Given the description of an element on the screen output the (x, y) to click on. 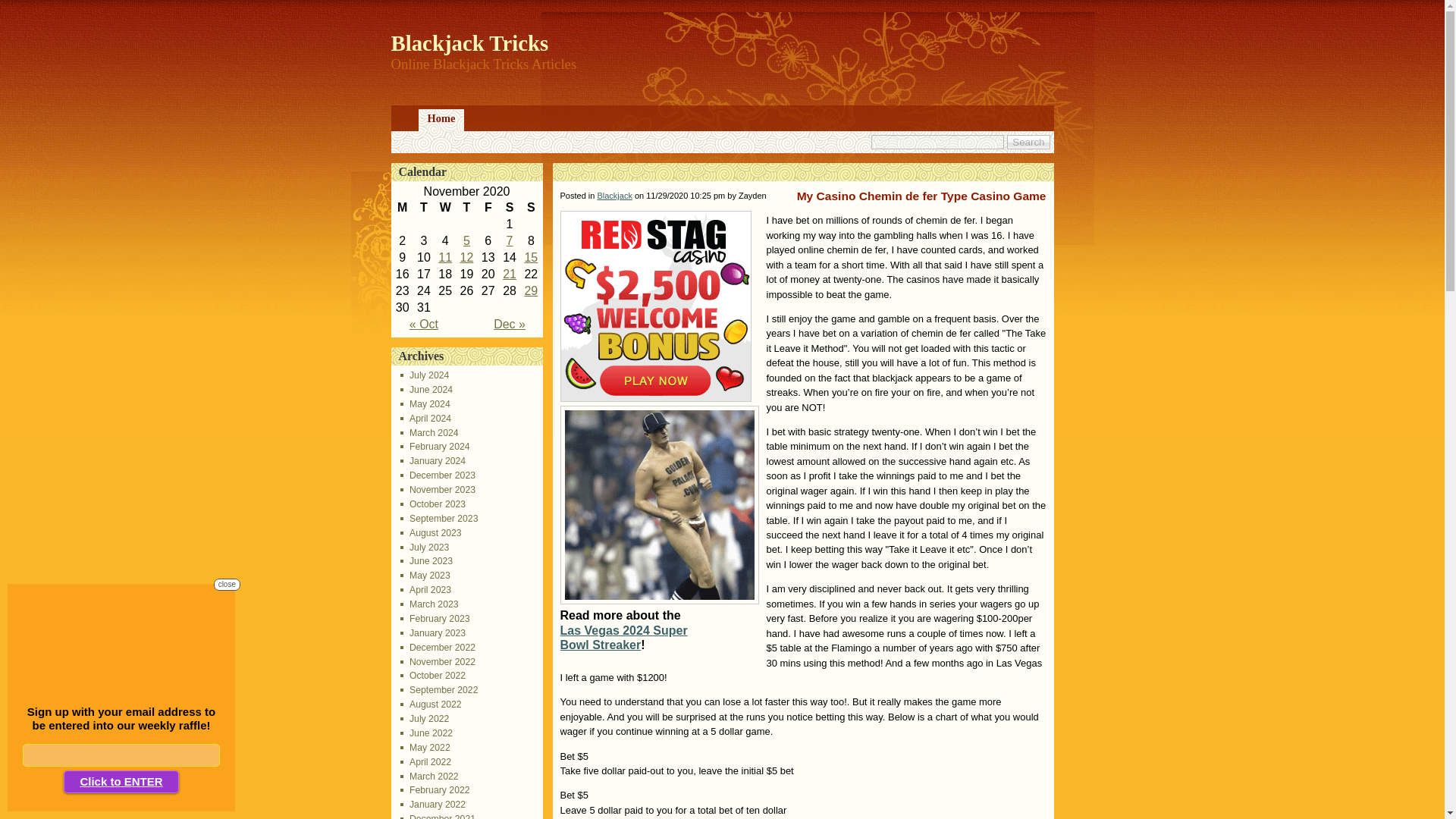
January 2024 (432, 460)
Wednesday (444, 207)
March 2024 (429, 432)
Blackjack Tricks (469, 43)
September 2022 (439, 689)
11 (444, 256)
May 2022 (424, 747)
February 2023 (435, 618)
Home (441, 119)
November 2023 (438, 489)
Sunday (530, 207)
View posts for December 2020 (509, 323)
April 2023 (425, 589)
June 2024 (426, 389)
